Given the description of an element on the screen output the (x, y) to click on. 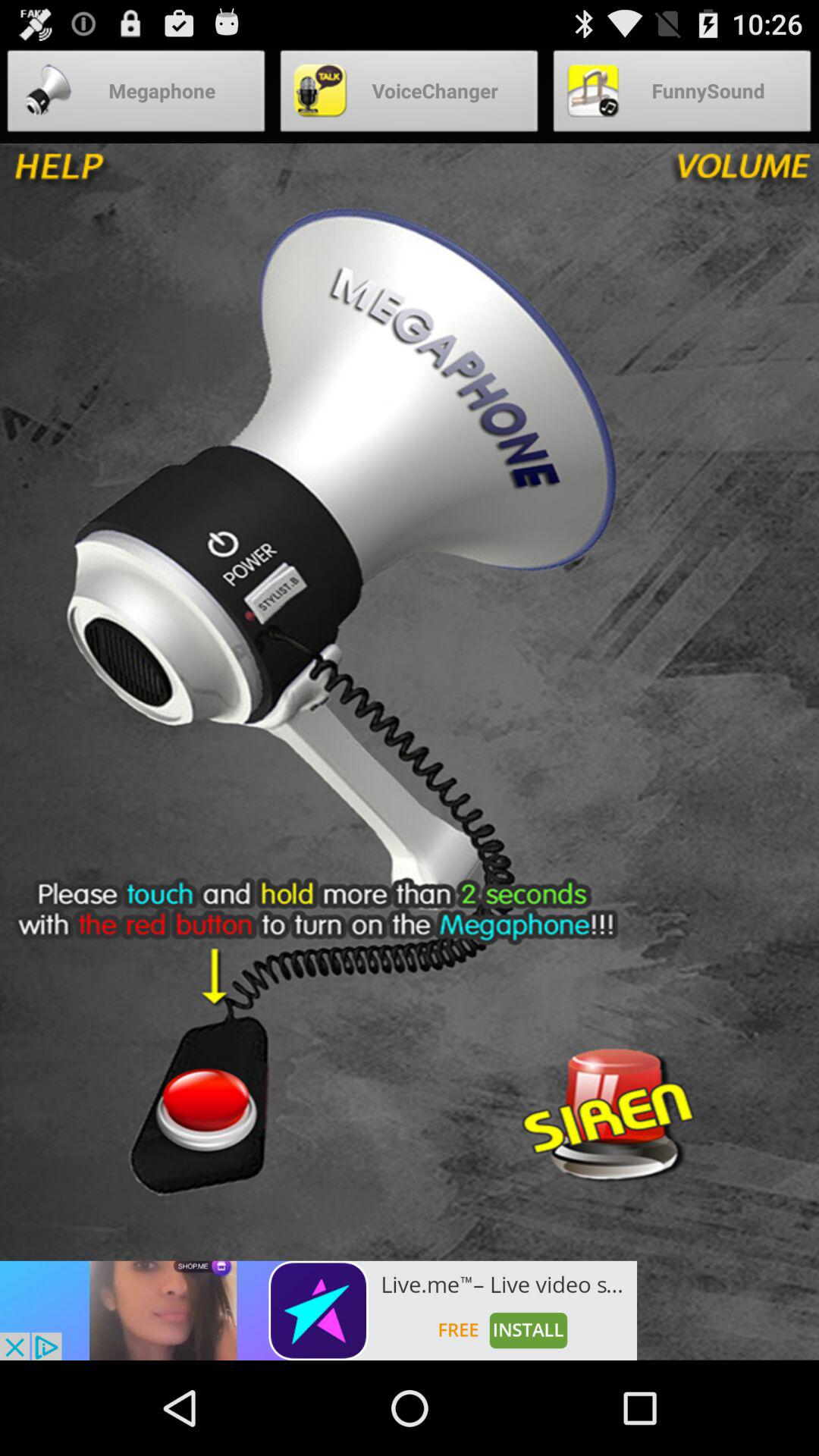
help button (112, 173)
